Given the description of an element on the screen output the (x, y) to click on. 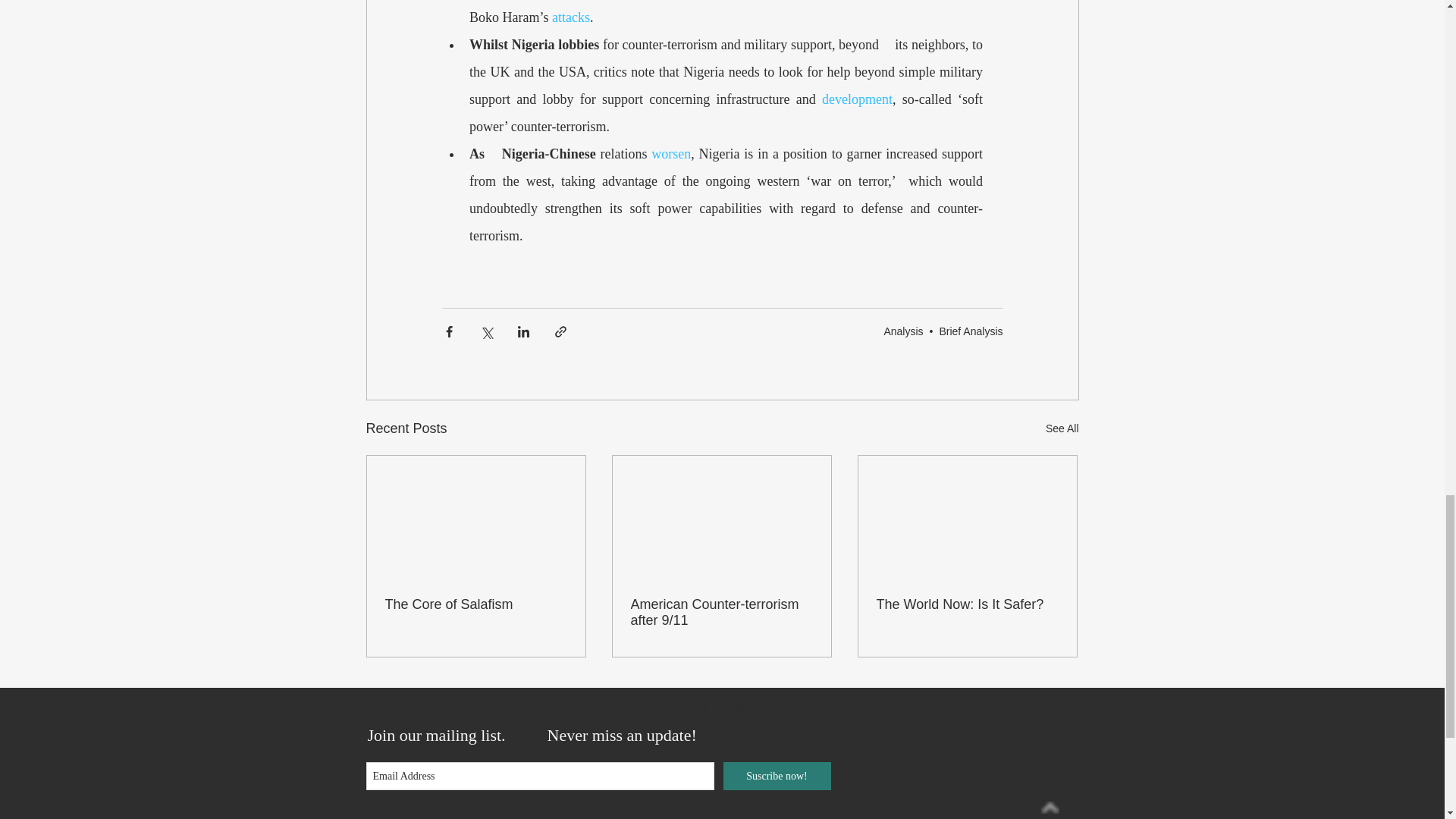
attacks (570, 17)
development (857, 99)
worsen (670, 153)
